Given the description of an element on the screen output the (x, y) to click on. 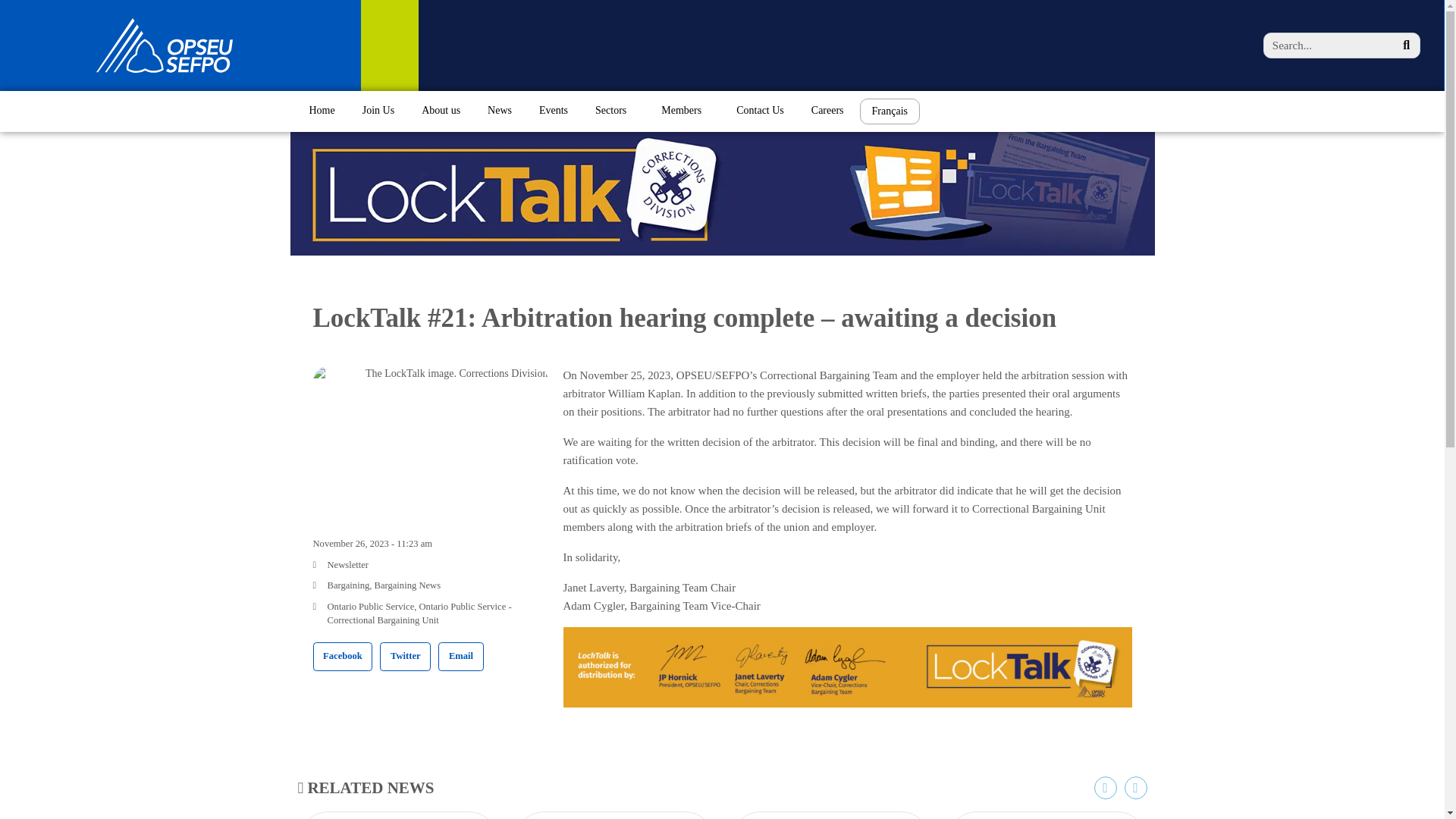
Events (553, 110)
Home (321, 110)
Join Us (378, 110)
Search (1406, 45)
About us (440, 110)
Search (1328, 45)
Sectors (614, 110)
News (499, 110)
